Given the description of an element on the screen output the (x, y) to click on. 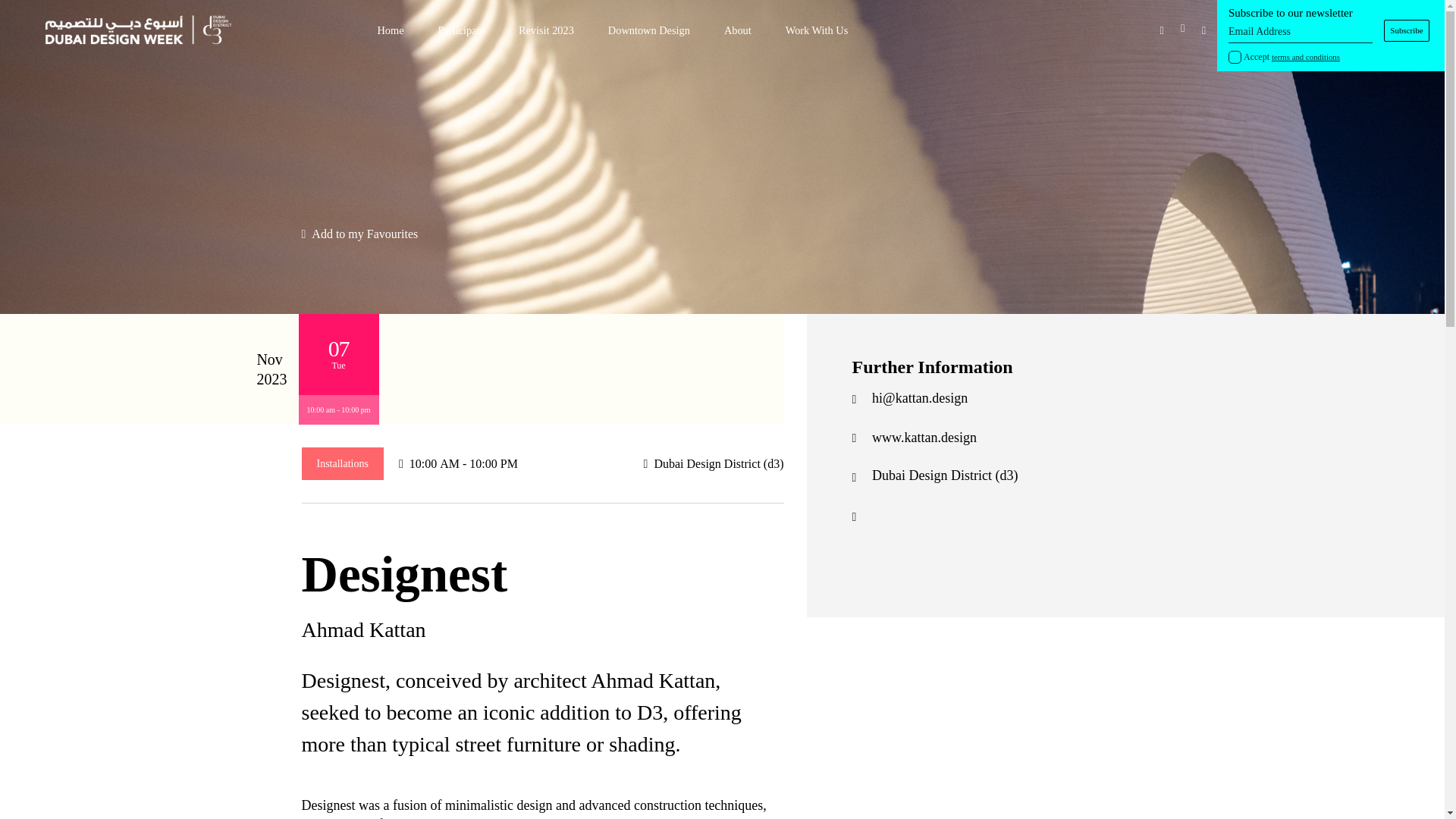
Subscribe (1406, 30)
Downtown Design (649, 30)
Revisit 2023 (545, 30)
  Add to my Favourites (360, 233)
www.kattan.design (924, 437)
terms and conditions (1305, 56)
Subscribe (1406, 30)
Work With Us (817, 30)
